Given the description of an element on the screen output the (x, y) to click on. 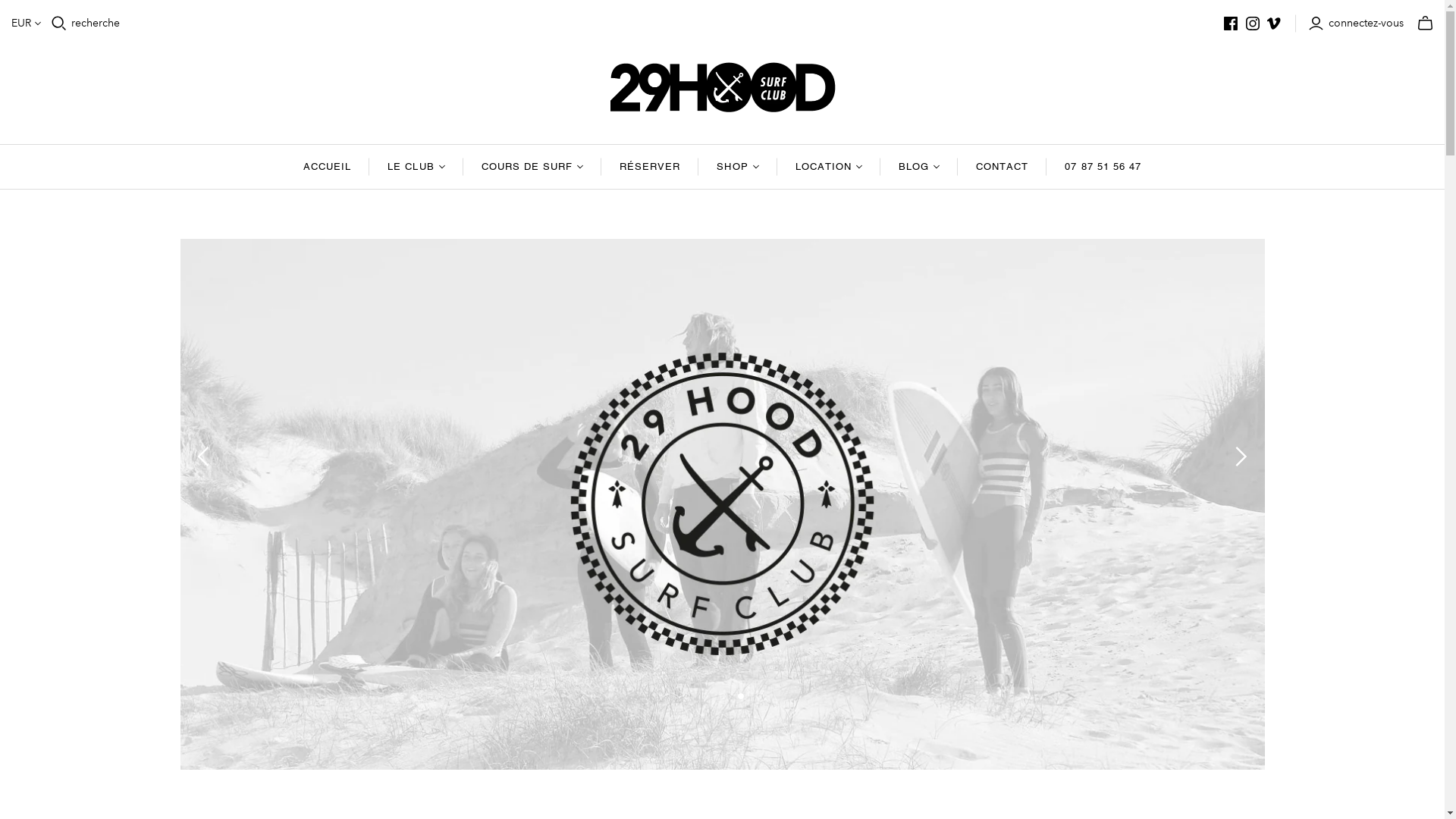
ACCUEIL Element type: text (327, 166)
COURS DE SURF Element type: text (532, 166)
07 87 51 56 47 Element type: text (1102, 166)
connectez-vous Element type: text (1358, 22)
CONTACT Element type: text (1001, 166)
BLOG Element type: text (918, 166)
LE CLUB Element type: text (415, 166)
LOCATION Element type: text (828, 166)
SHOP Element type: text (737, 166)
